Given the description of an element on the screen output the (x, y) to click on. 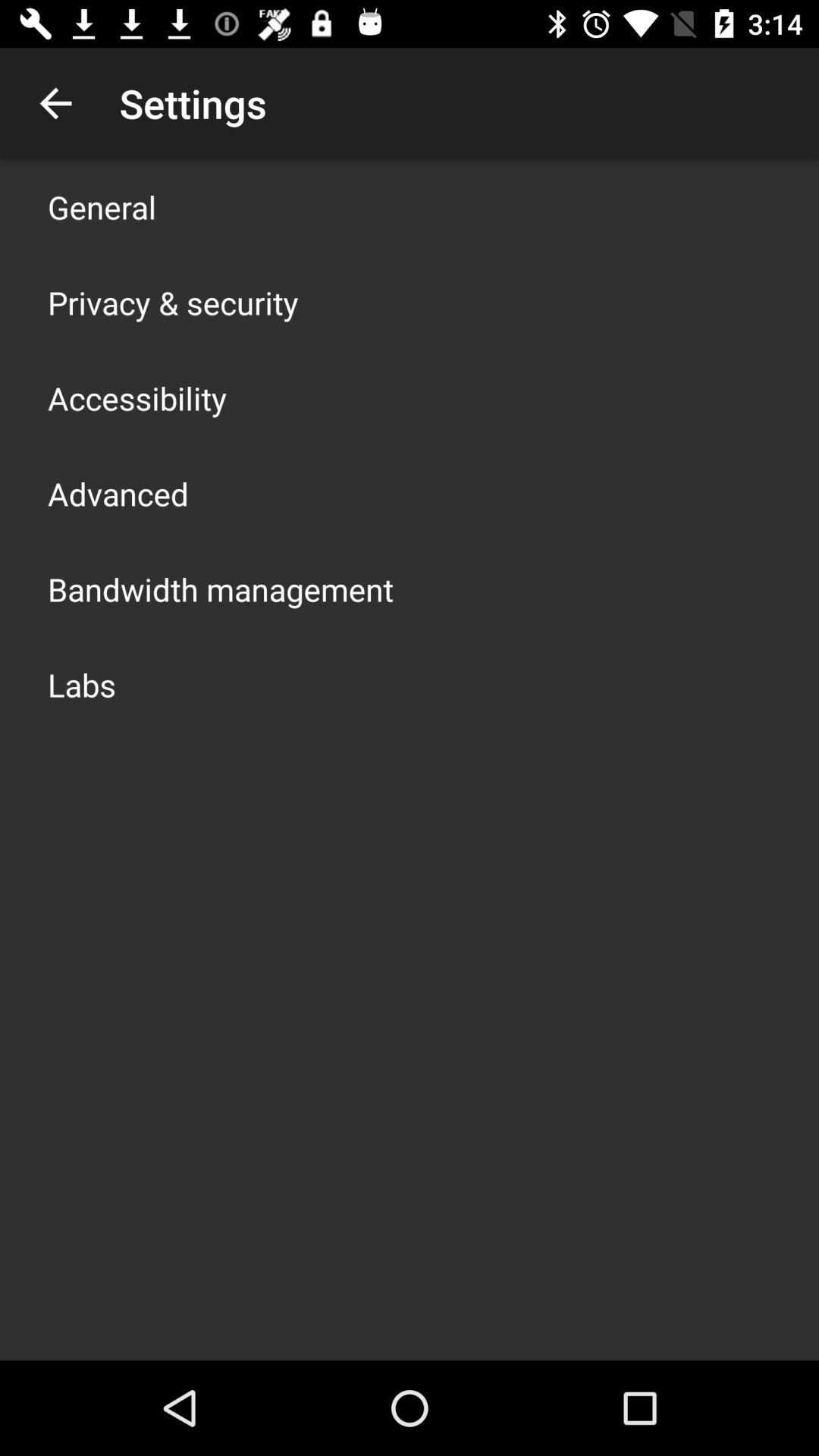
flip to the accessibility (136, 397)
